Given the description of an element on the screen output the (x, y) to click on. 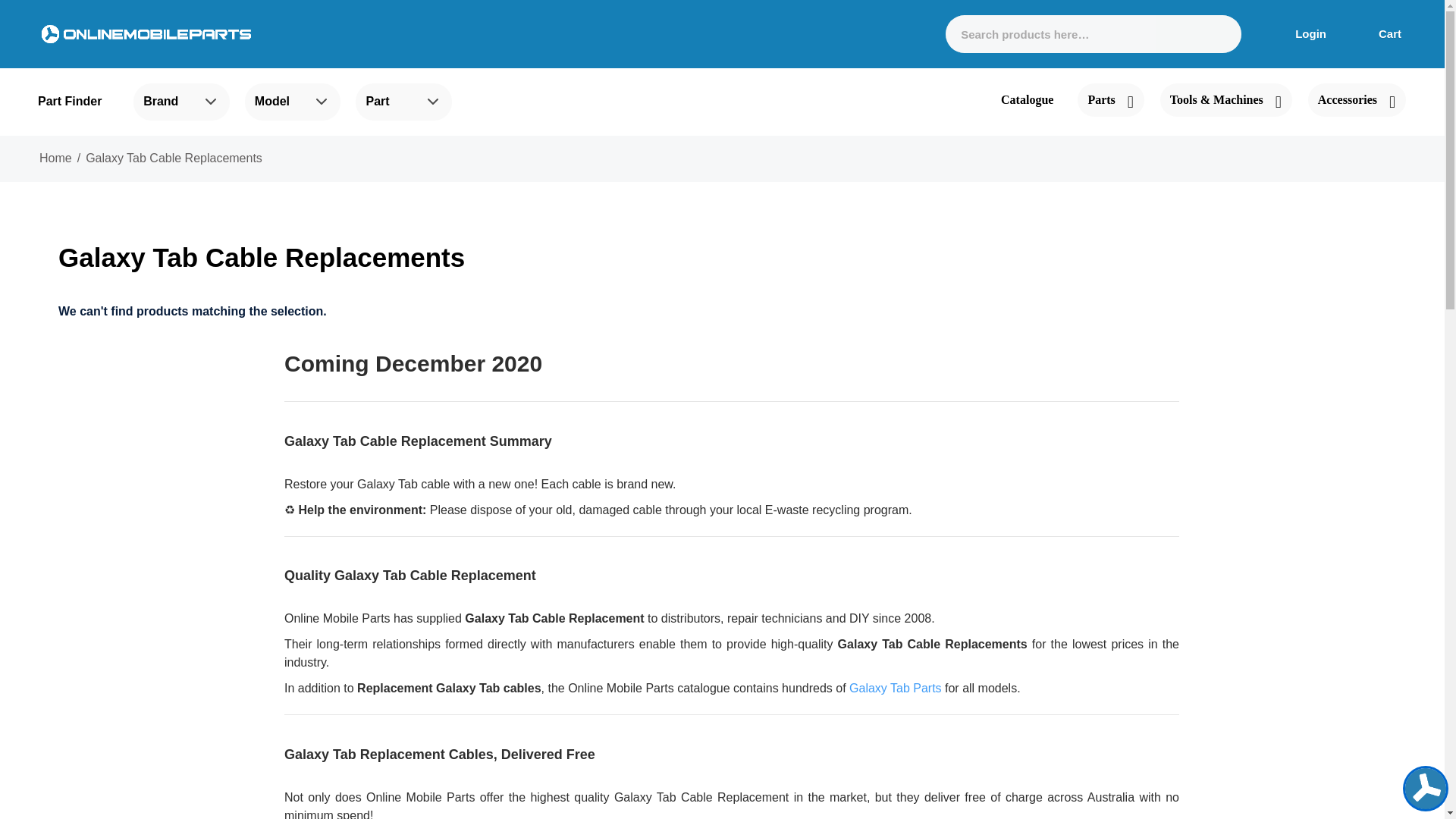
Galaxy Tab Parts (895, 687)
Parts (1109, 100)
Go to Home Page (55, 157)
Online Mobile Parts Logo (146, 33)
Login (1299, 33)
My Account (1299, 33)
Cart (1380, 33)
Catalogue (1026, 99)
Search (1216, 34)
